Given the description of an element on the screen output the (x, y) to click on. 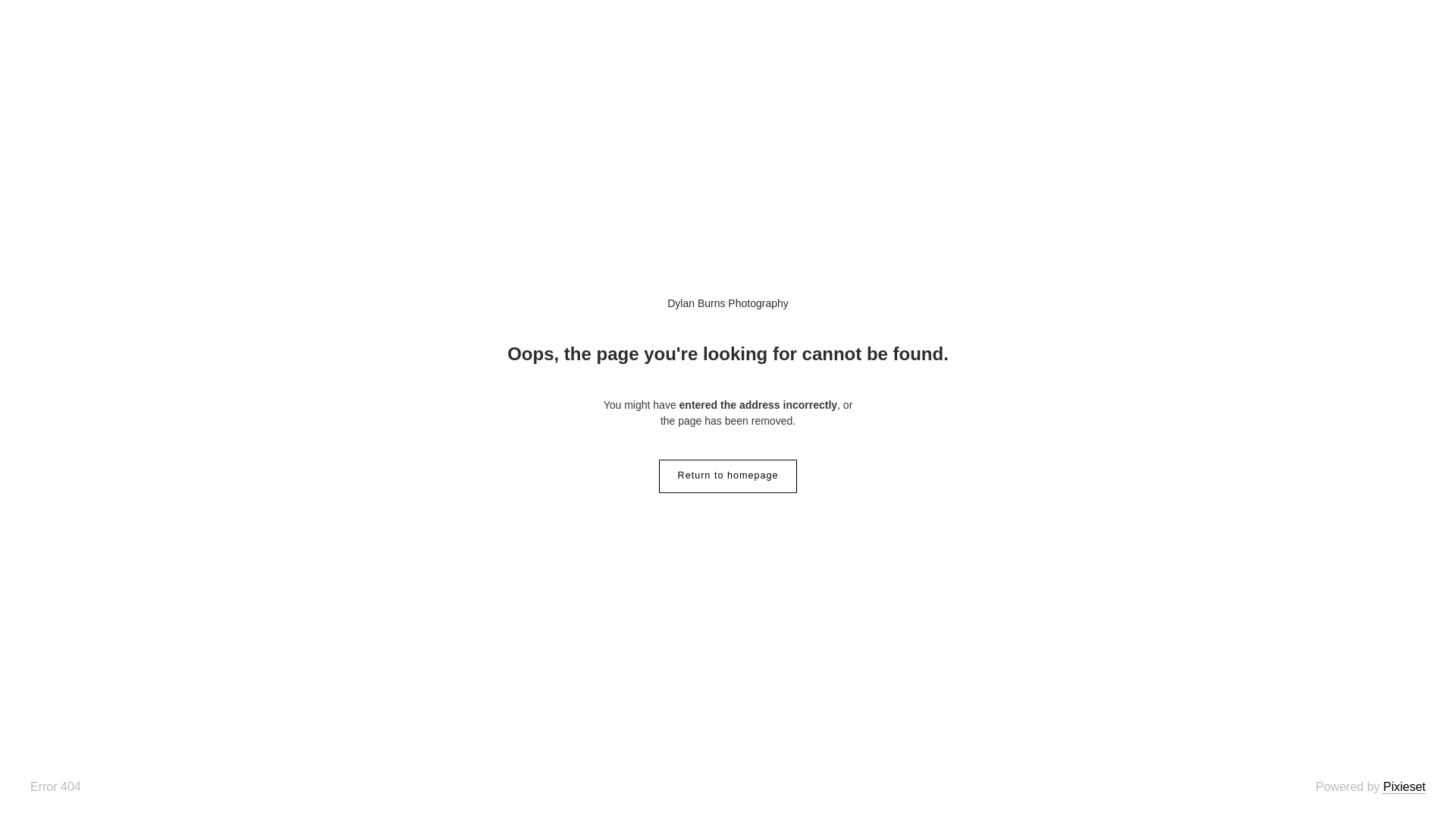
Pixieset Element type: text (1404, 786)
Return to homepage Element type: text (727, 475)
